Given the description of an element on the screen output the (x, y) to click on. 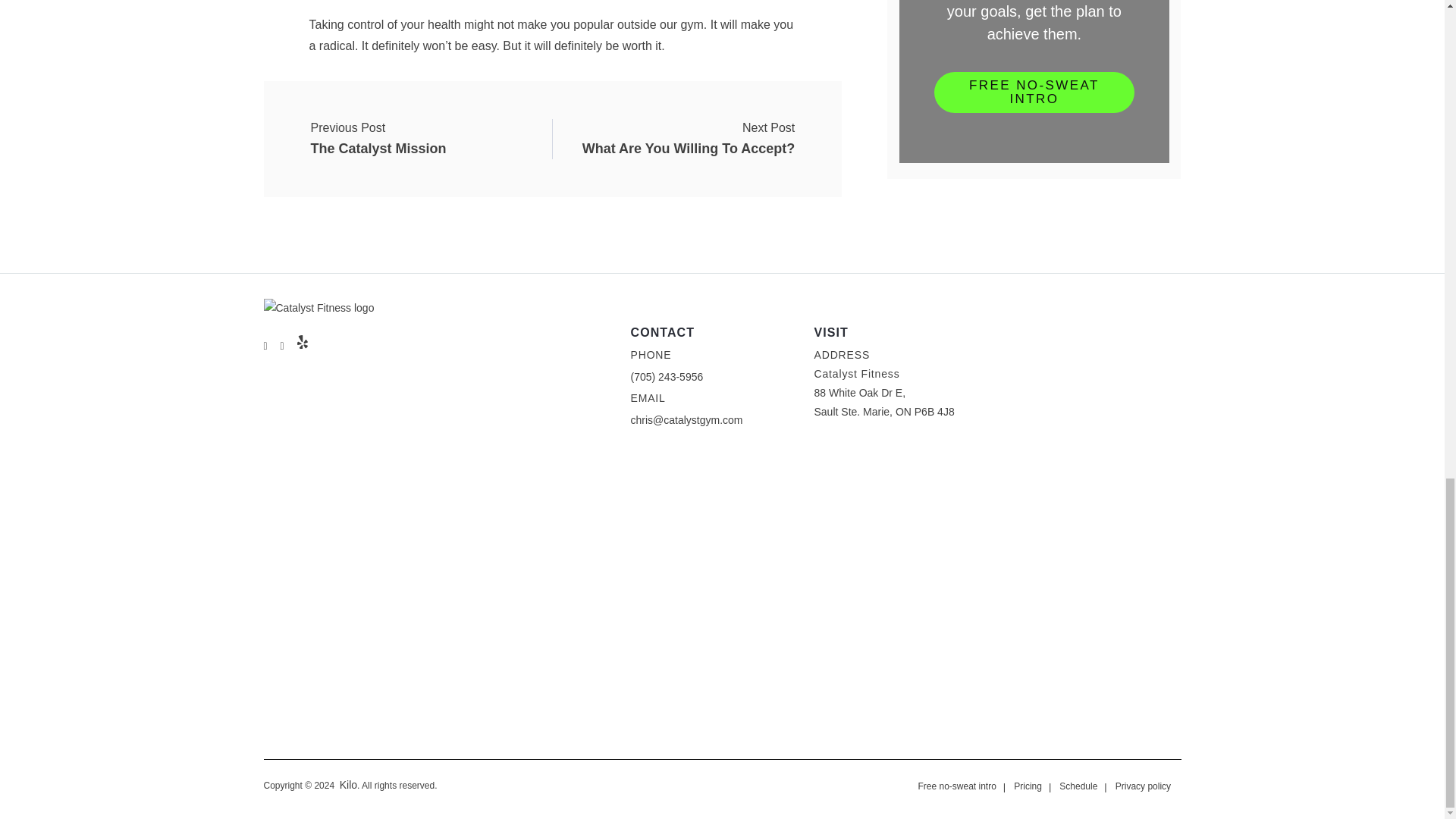
The Catalyst Mission (378, 139)
What Are You Willing To Accept? (688, 139)
FREE NO-SWEAT INTRO (1034, 92)
